Given the description of an element on the screen output the (x, y) to click on. 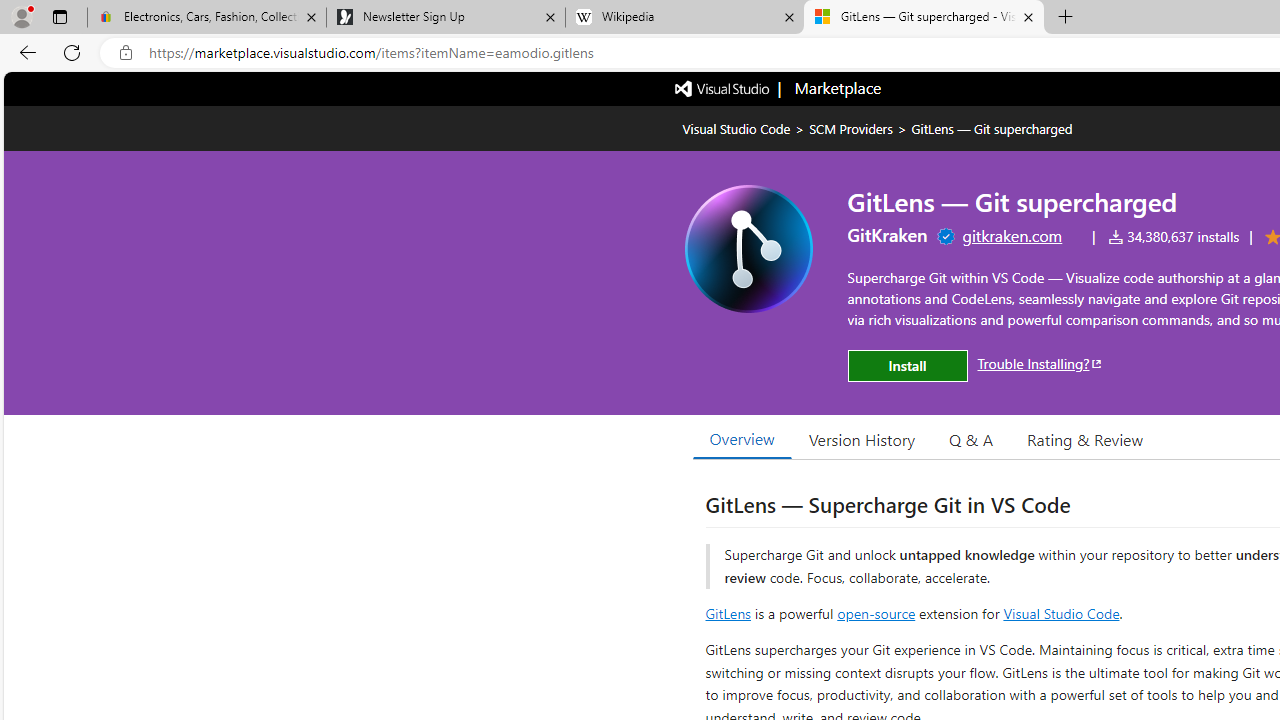
gitkraken.com (1012, 235)
open-source (876, 612)
Visual Studio logo (723, 87)
Install (907, 365)
Visual Studio Code (1061, 612)
